Given the description of an element on the screen output the (x, y) to click on. 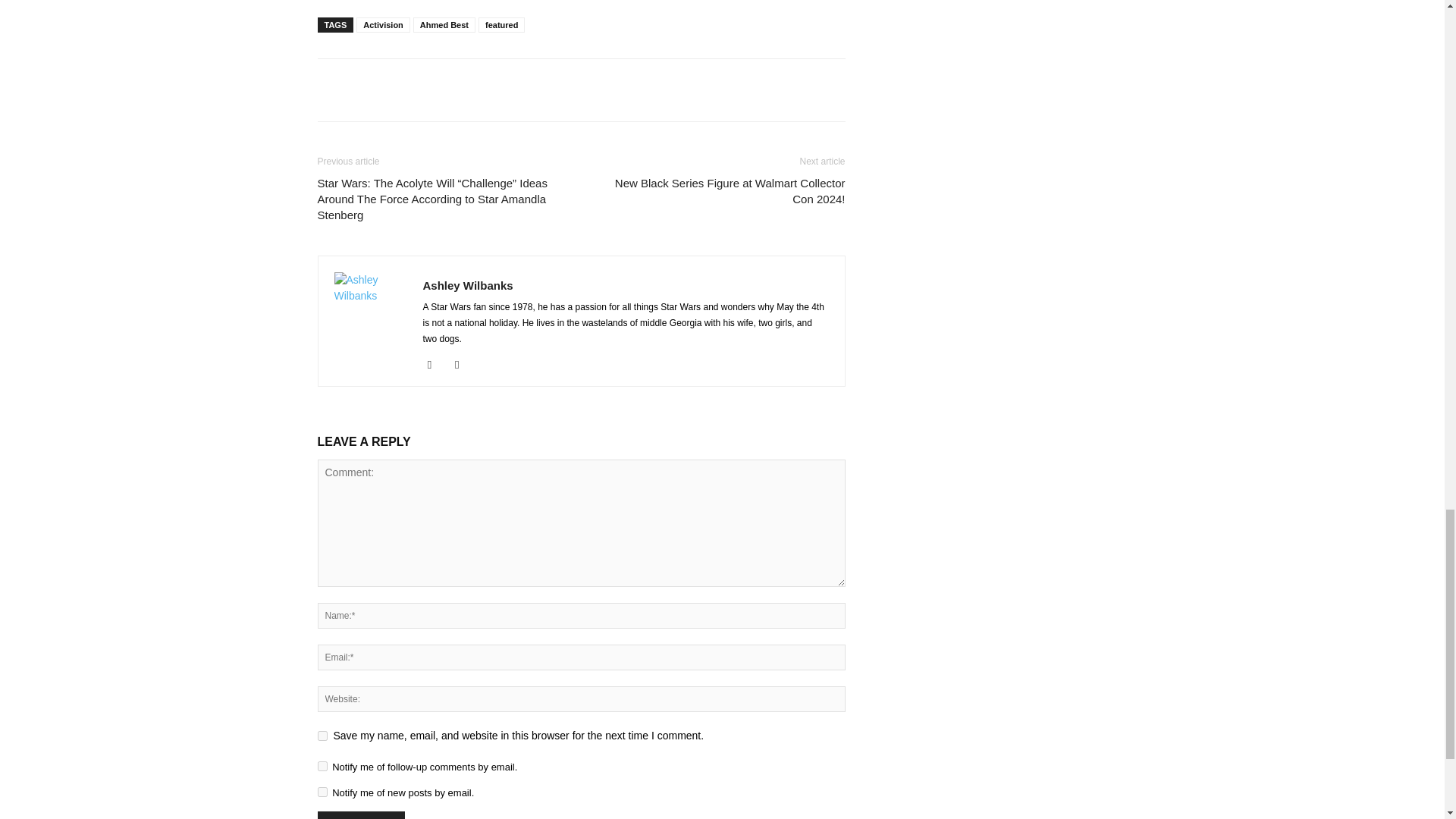
yes (321, 736)
subscribe (321, 766)
subscribe (321, 791)
Post Comment (360, 815)
